Given the description of an element on the screen output the (x, y) to click on. 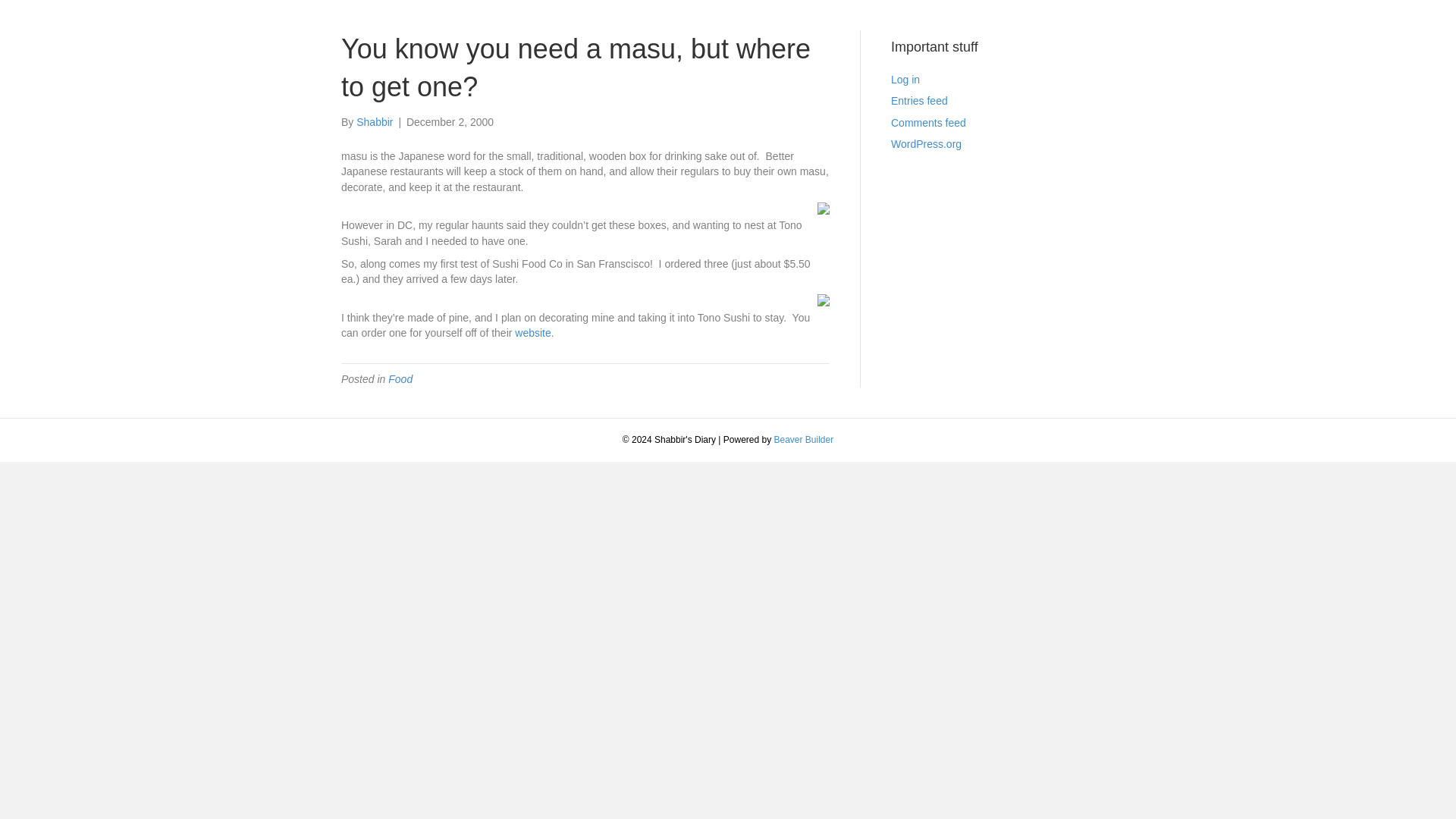
Beaver Builder (802, 439)
Comments feed (928, 122)
WordPress Page Builder Plugin (802, 439)
Shabbir (374, 121)
Entries feed (919, 101)
Log in (905, 79)
WordPress.org (925, 143)
Food (400, 378)
website (532, 332)
